Given the description of an element on the screen output the (x, y) to click on. 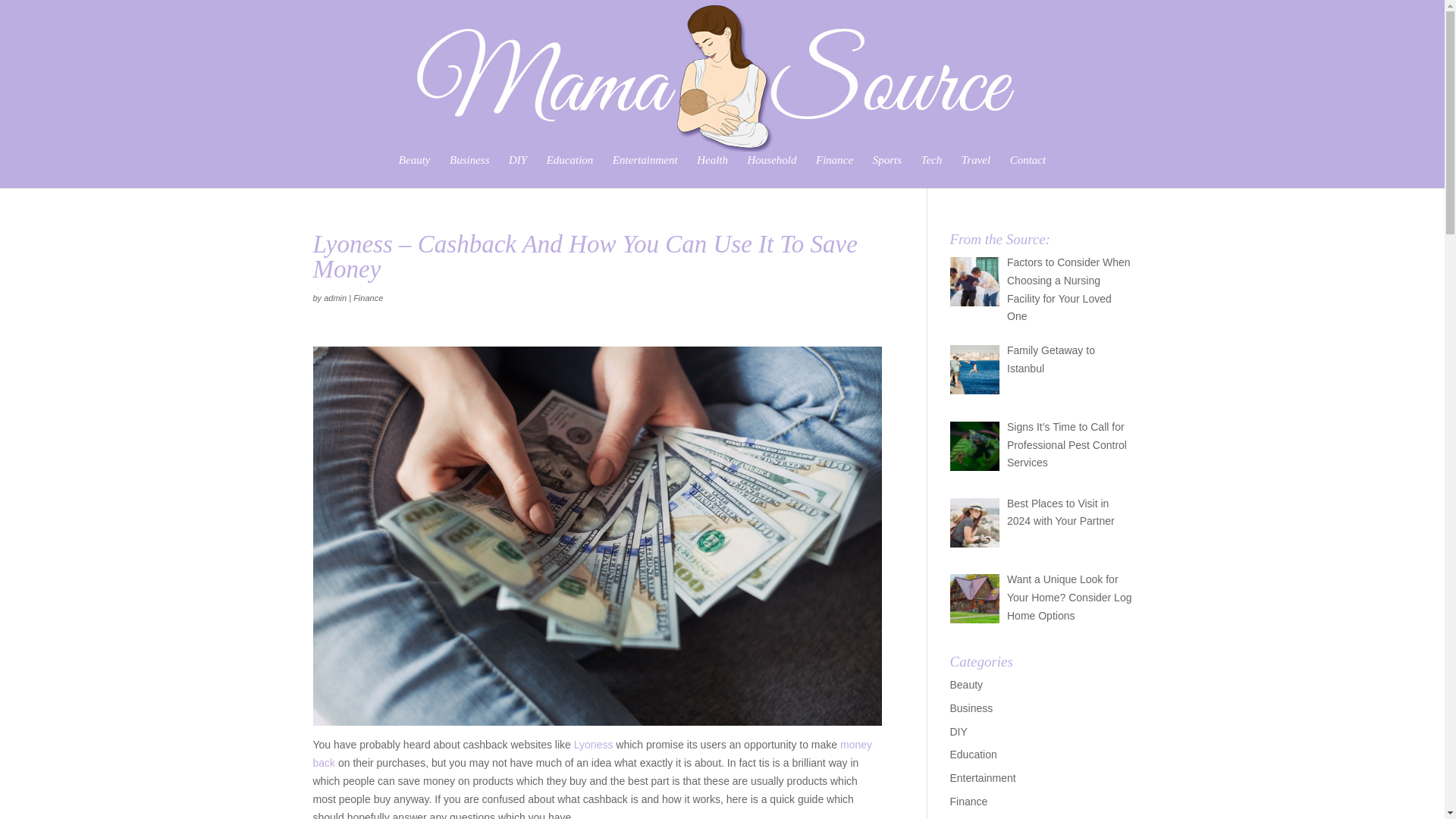
money back (592, 753)
Best Places to Visit in 2024 with Your Partner (1061, 512)
admin (334, 297)
Finance (834, 171)
Family Getaway to Istanbul (1050, 358)
Lyoness (592, 744)
Education (972, 754)
Entertainment (645, 171)
Entertainment (981, 777)
Business (970, 707)
Want a Unique Look for Your Home? Consider Log Home Options (1069, 597)
DIY (957, 731)
Beauty (414, 171)
Finance (367, 297)
